Given the description of an element on the screen output the (x, y) to click on. 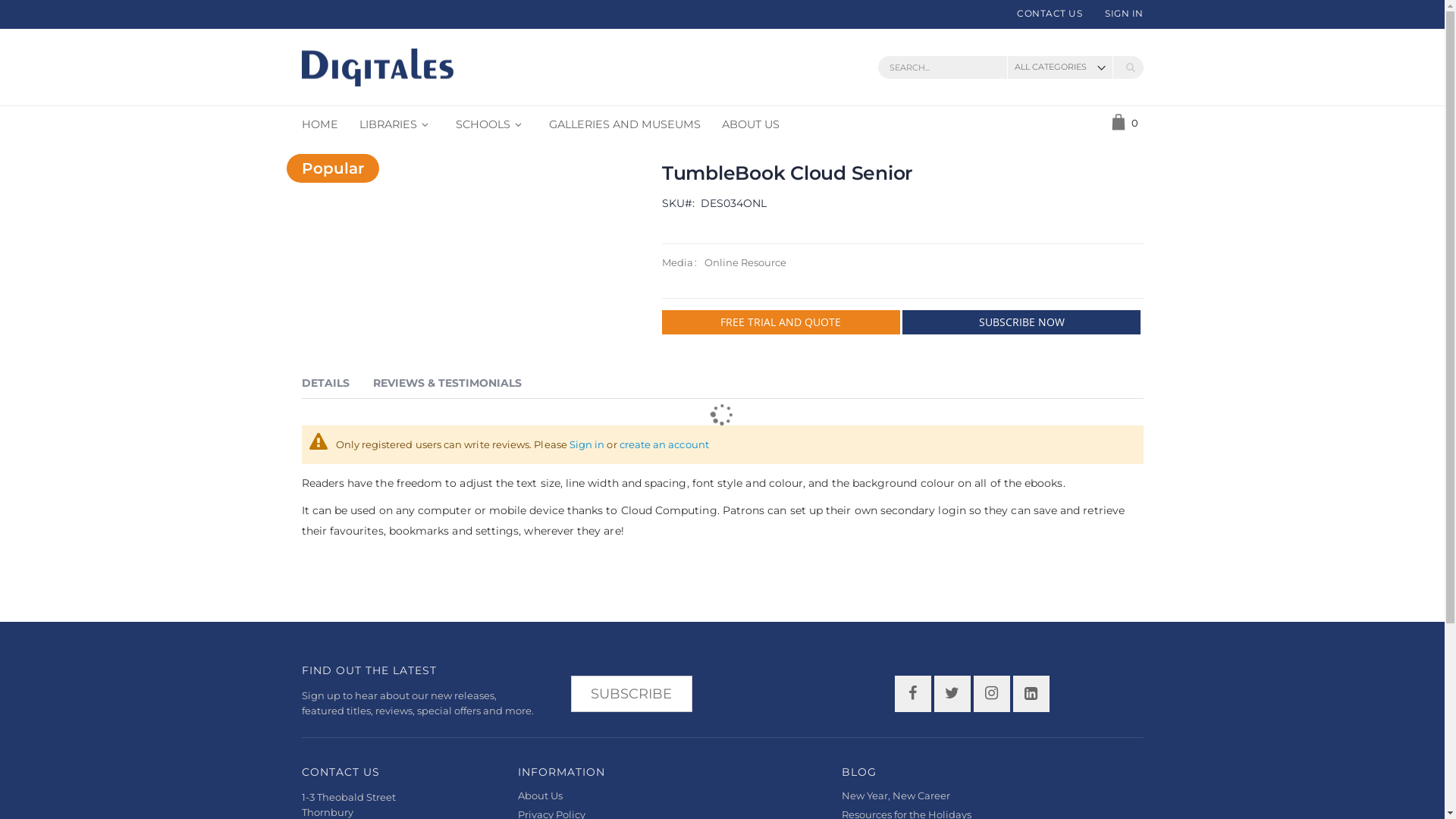
New Year, New Career Element type: text (895, 795)
FREE TRIAL AND QUOTE Element type: text (781, 322)
REVIEWS & TESTIMONIALS Element type: text (447, 384)
CONTACT US Element type: text (1049, 13)
Sign in Element type: text (587, 444)
FREE TRIAL AND QUOTE Element type: text (780, 321)
CONTACT US Element type: text (340, 771)
SUBSCRIBE NOW Element type: text (1021, 322)
About Us Element type: text (539, 795)
Search Element type: text (1130, 67)
Instagram Element type: hover (991, 693)
GALLERIES AND MUSEUMS Element type: text (624, 123)
LIBRARIES Element type: text (396, 124)
SUBSCRIBE Element type: text (630, 693)
SUBSCRIBE Element type: text (630, 692)
DETAILS Element type: text (325, 384)
Twitter Element type: hover (952, 693)
Linkedin Element type: hover (1031, 693)
SUBSCRIBE NOW Element type: text (1021, 321)
HOME Element type: text (319, 123)
create an account Element type: text (664, 444)
SIGN IN Element type: text (1118, 13)
Cart
0 Element type: text (1125, 123)
Facebook Element type: hover (912, 693)
SCHOOLS Element type: text (490, 124)
BLOG Element type: text (858, 771)
ABOUT US Element type: text (750, 123)
